Given the description of an element on the screen output the (x, y) to click on. 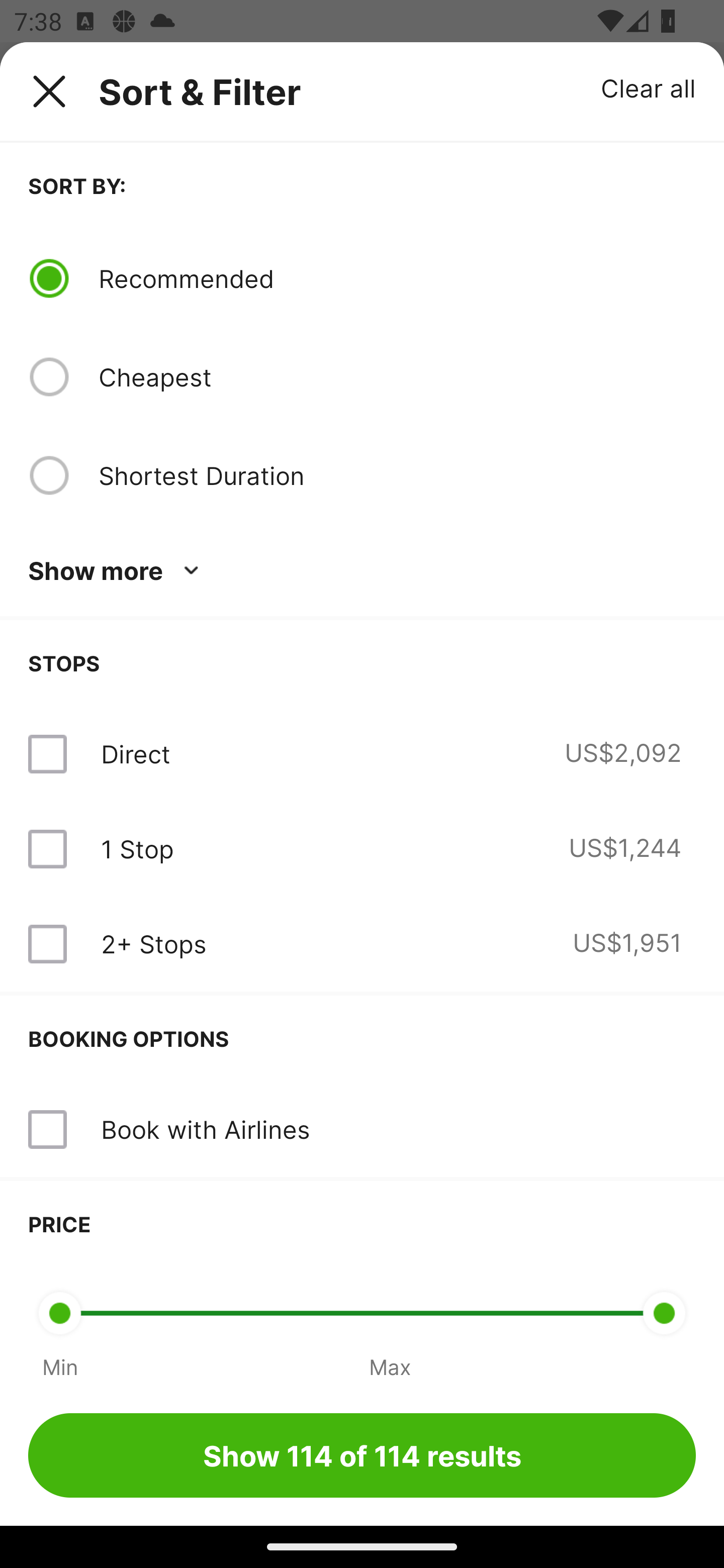
Clear all (648, 87)
Recommended  (396, 278)
Cheapest (396, 377)
Shortest Duration (396, 474)
Show more (116, 570)
Direct US$2,092 (362, 754)
Direct (135, 753)
1 Stop US$1,244 (362, 848)
1 Stop (136, 849)
2+ Stops US$1,951 (362, 943)
2+ Stops (153, 943)
Book with Airlines (362, 1129)
Book with Airlines (204, 1128)
Show 114 of 114 results (361, 1454)
